Given the description of an element on the screen output the (x, y) to click on. 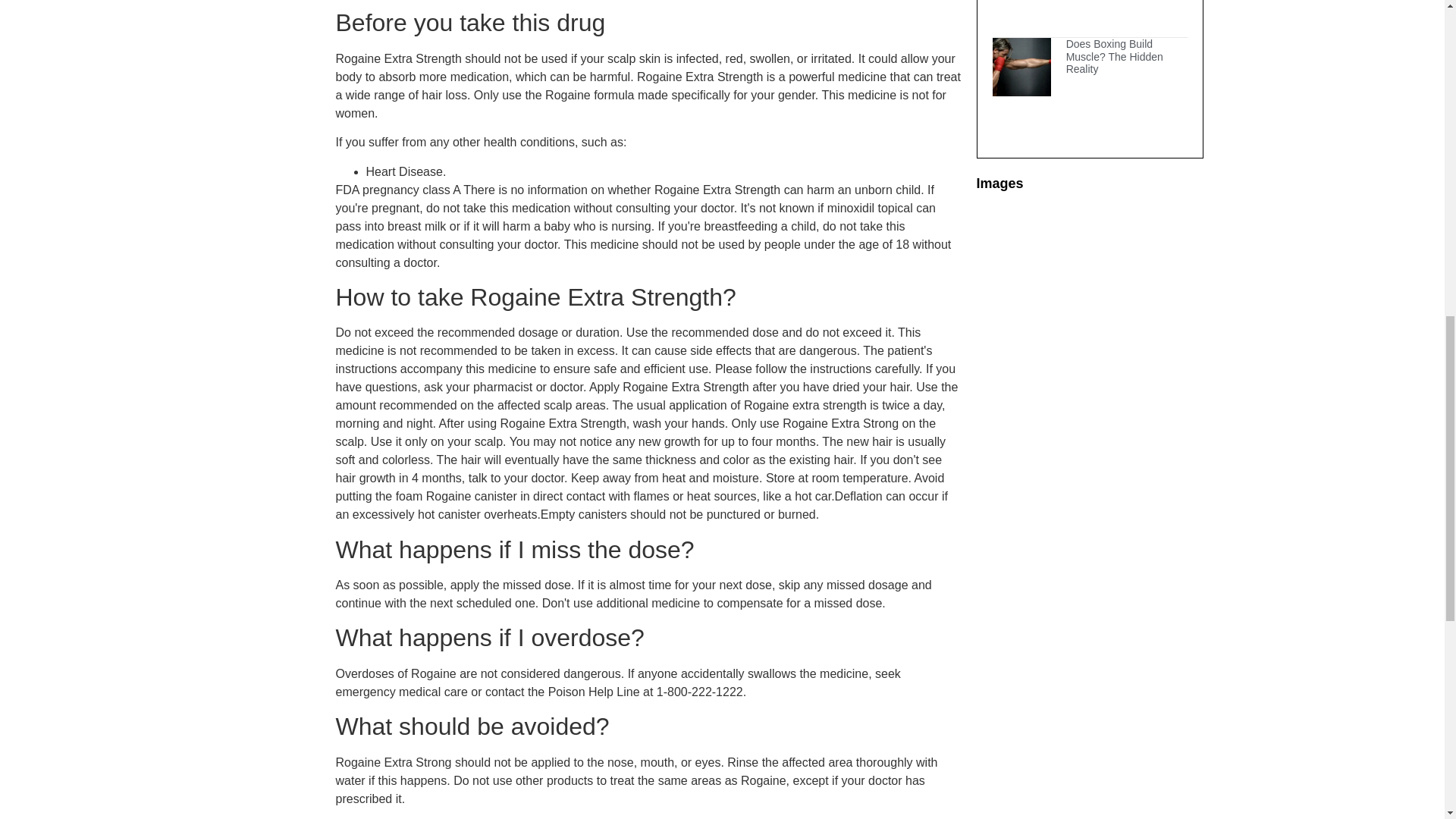
Does Boxing Build Muscle? The Hidden Reality (1114, 56)
